Given the description of an element on the screen output the (x, y) to click on. 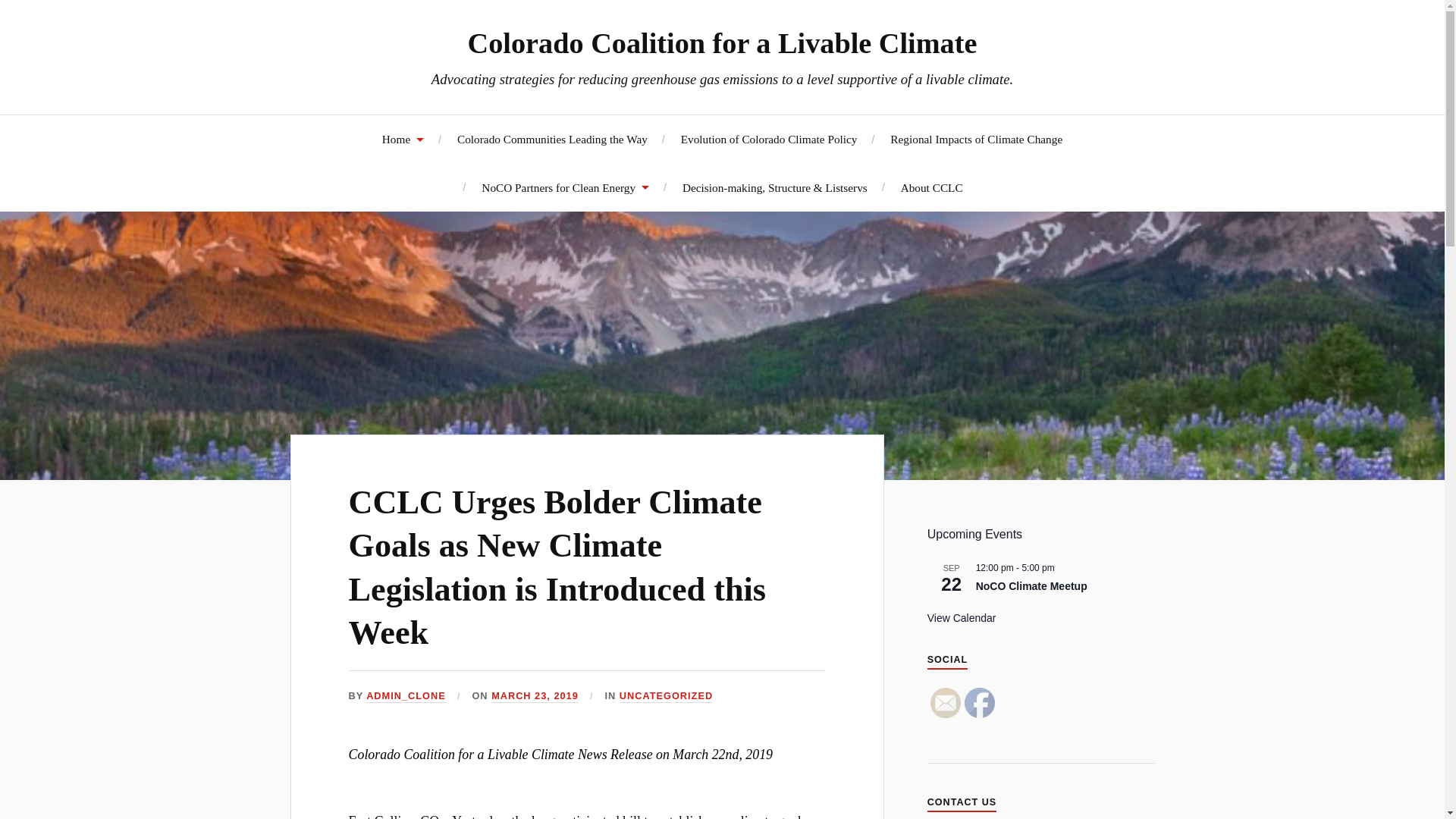
Colorado Coalition for a Livable Climate (721, 42)
About CCLC (931, 187)
Regional Impacts of Climate Change (975, 138)
Evolution of Colorado Climate Policy (769, 138)
View Calendar (961, 617)
NoCO Partners for Clean Energy (565, 187)
NoCO Climate Meetup (1031, 585)
Follow by Email (945, 702)
NoCO Climate Meetup (1031, 585)
